Given the description of an element on the screen output the (x, y) to click on. 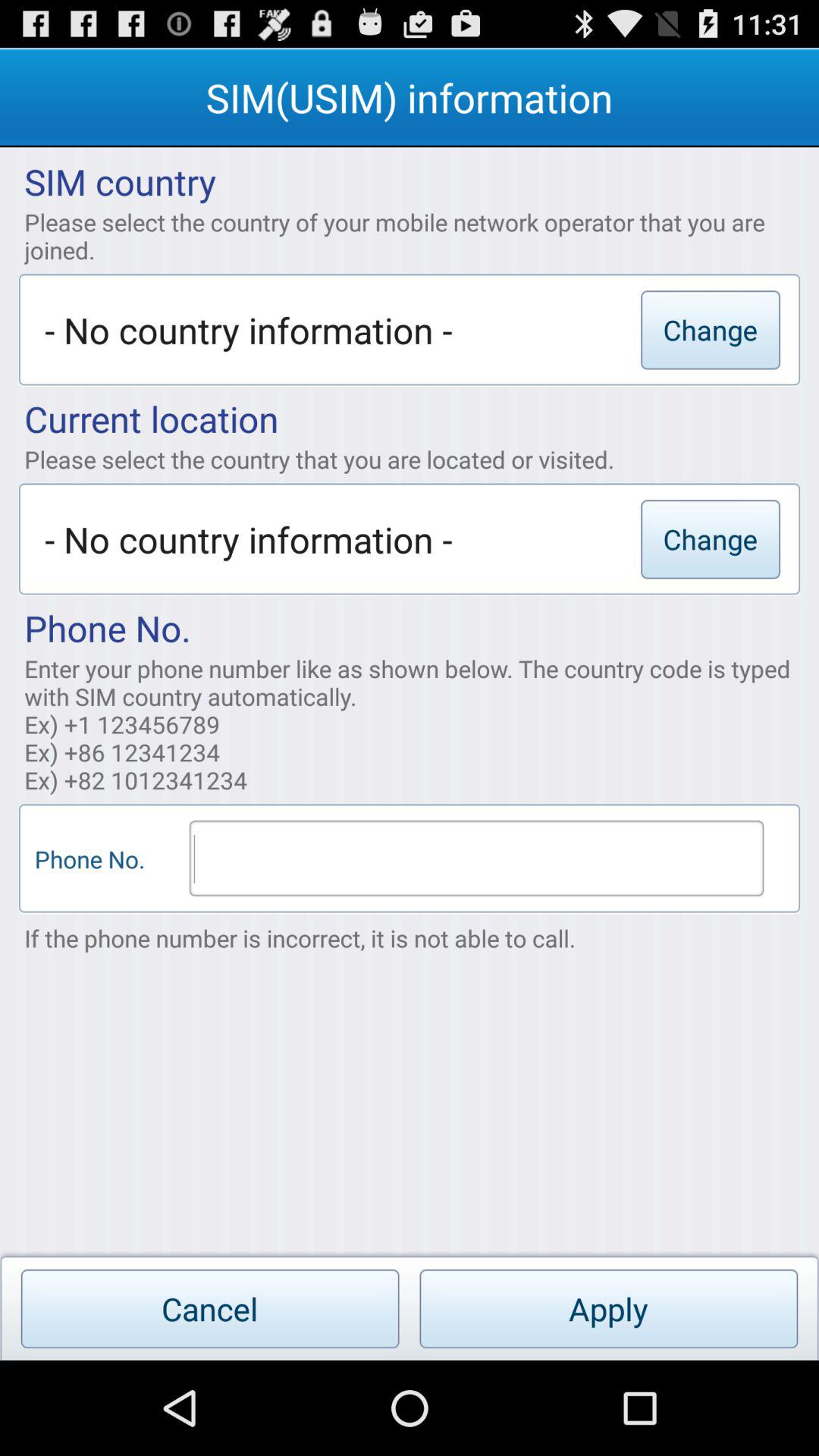
press the icon to the left of the apply (210, 1309)
